Given the description of an element on the screen output the (x, y) to click on. 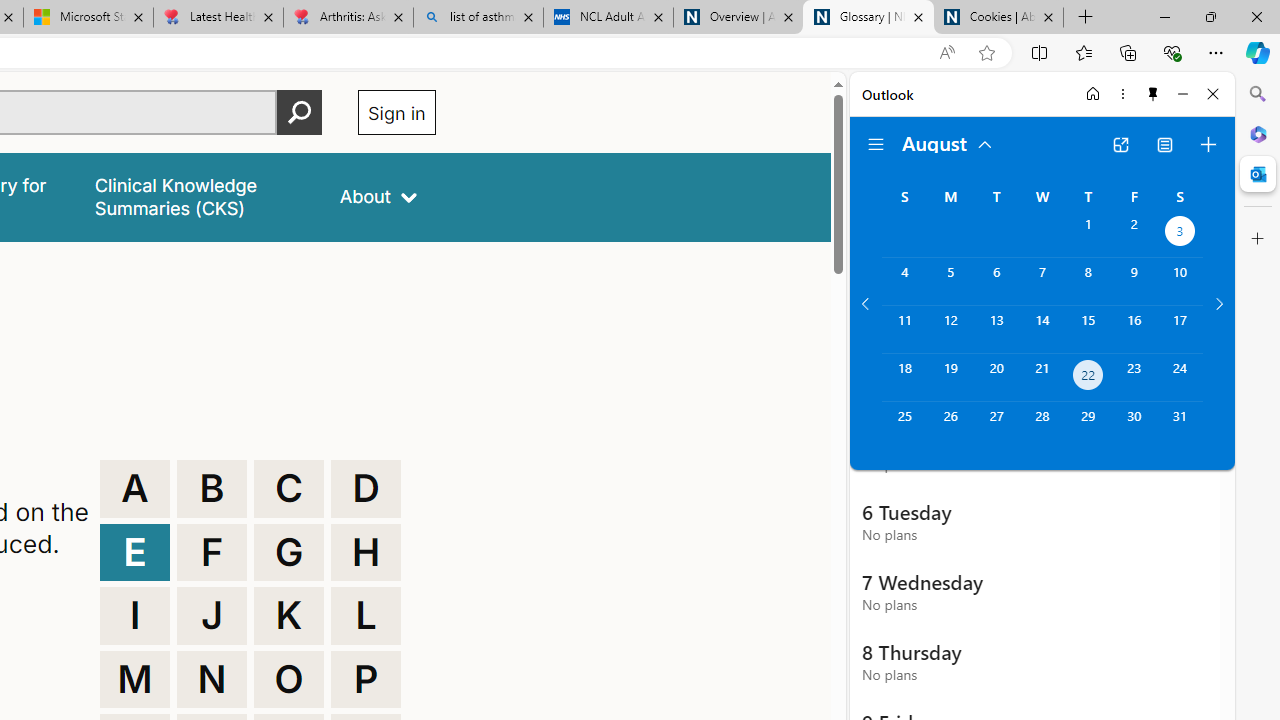
I (134, 615)
Monday, August 19, 2024.  (950, 377)
E (134, 551)
Thursday, August 22, 2024. Today.  (1088, 377)
About (378, 196)
Split screen (1039, 52)
Tuesday, August 6, 2024.  (996, 281)
F (212, 551)
More options (1122, 93)
Friday, August 2, 2024.  (1134, 233)
Wednesday, August 21, 2024.  (1042, 377)
Sign in (396, 112)
Sunday, August 25, 2024.  (904, 425)
